Given the description of an element on the screen output the (x, y) to click on. 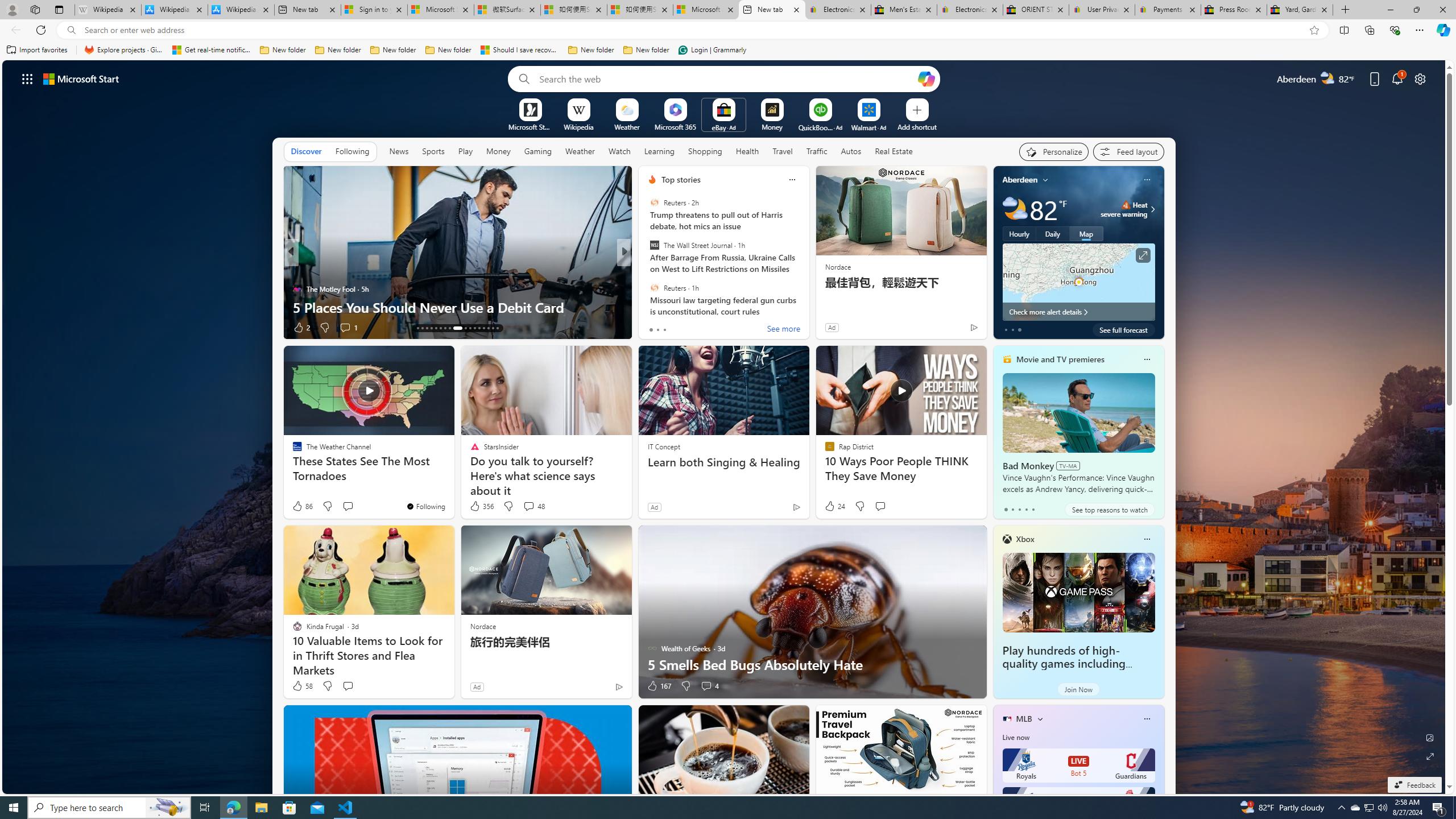
Hourly (1018, 233)
90 Like (652, 327)
Add a site (916, 126)
ATP Fitness Pte Ltd (671, 288)
